Given the description of an element on the screen output the (x, y) to click on. 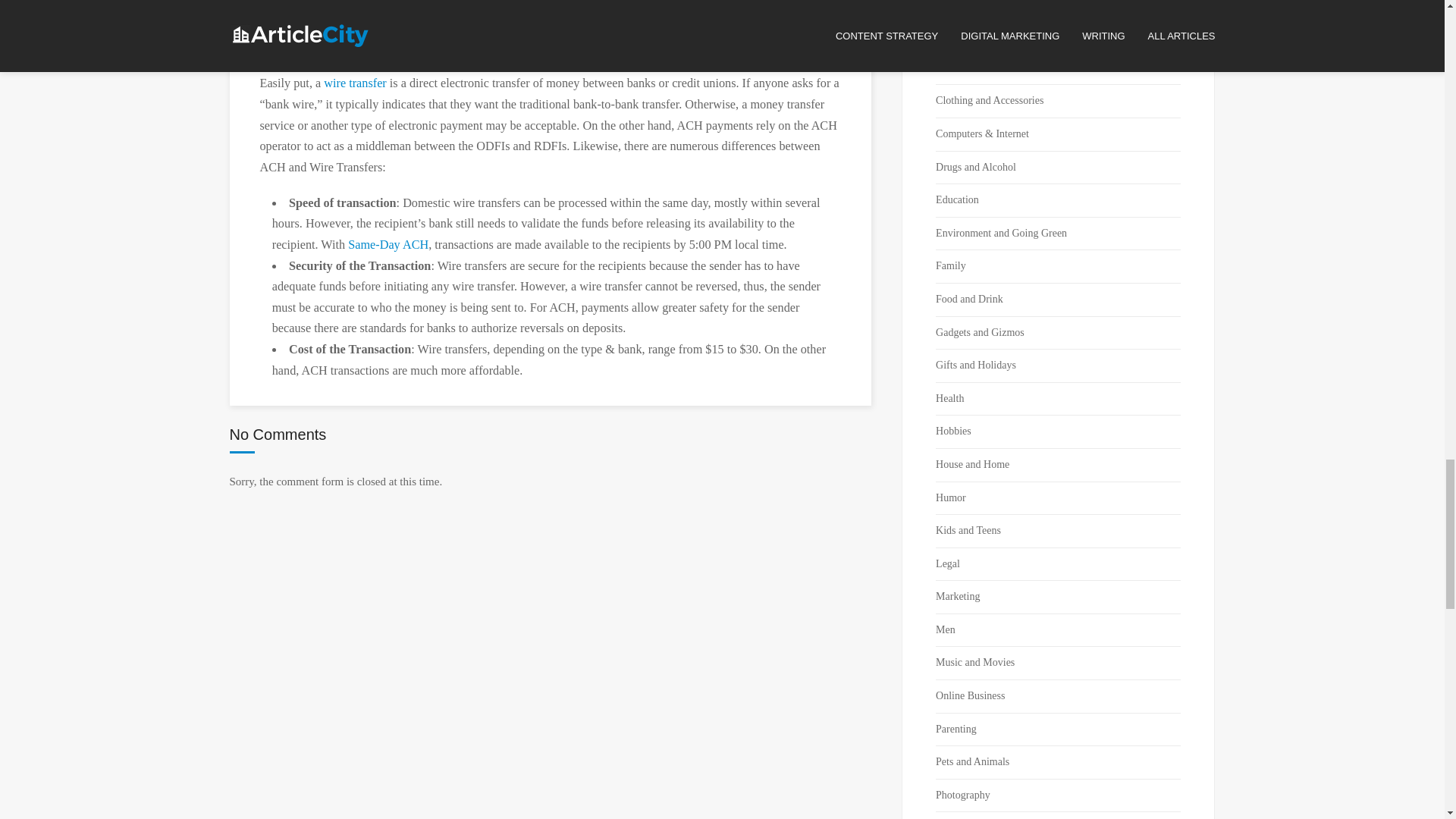
Same-Day ACH (387, 244)
wire transfer (354, 83)
